Given the description of an element on the screen output the (x, y) to click on. 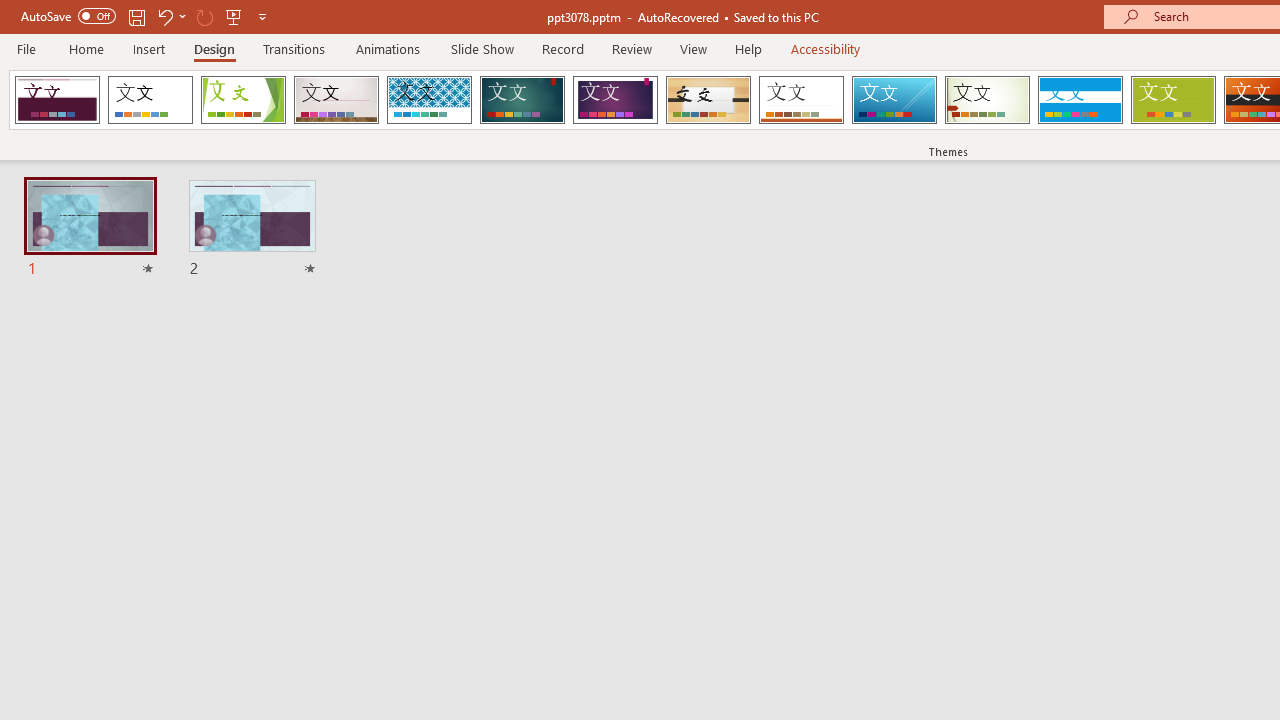
Ion Boardroom (615, 100)
